Given the description of an element on the screen output the (x, y) to click on. 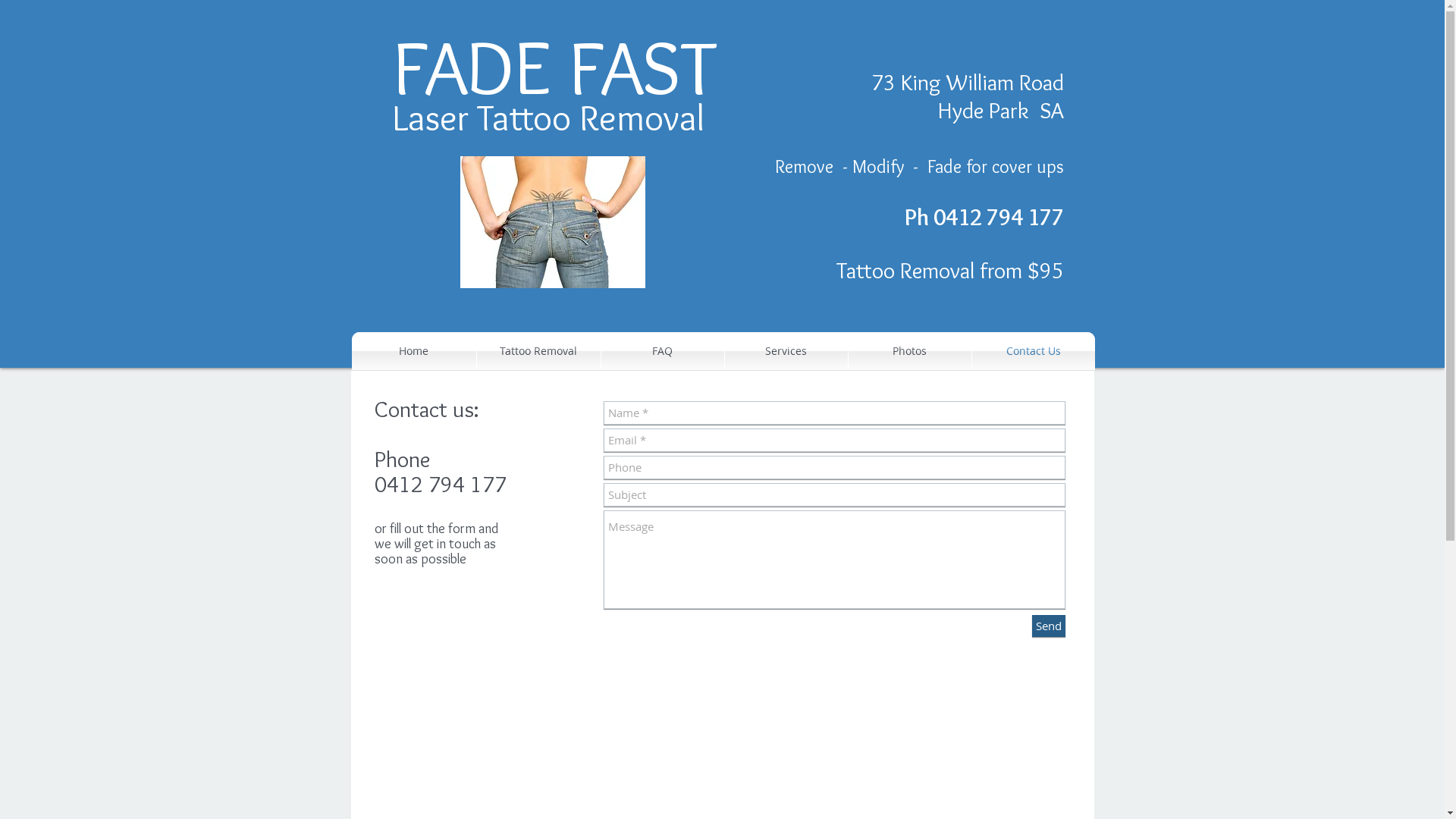
Send Element type: text (1047, 626)
Contact Us Element type: text (1033, 351)
FAQ Element type: text (661, 351)
Photos Element type: text (908, 351)
Services Element type: text (785, 351)
Tattoo Removal Element type: text (537, 351)
Home Element type: text (413, 351)
